Given the description of an element on the screen output the (x, y) to click on. 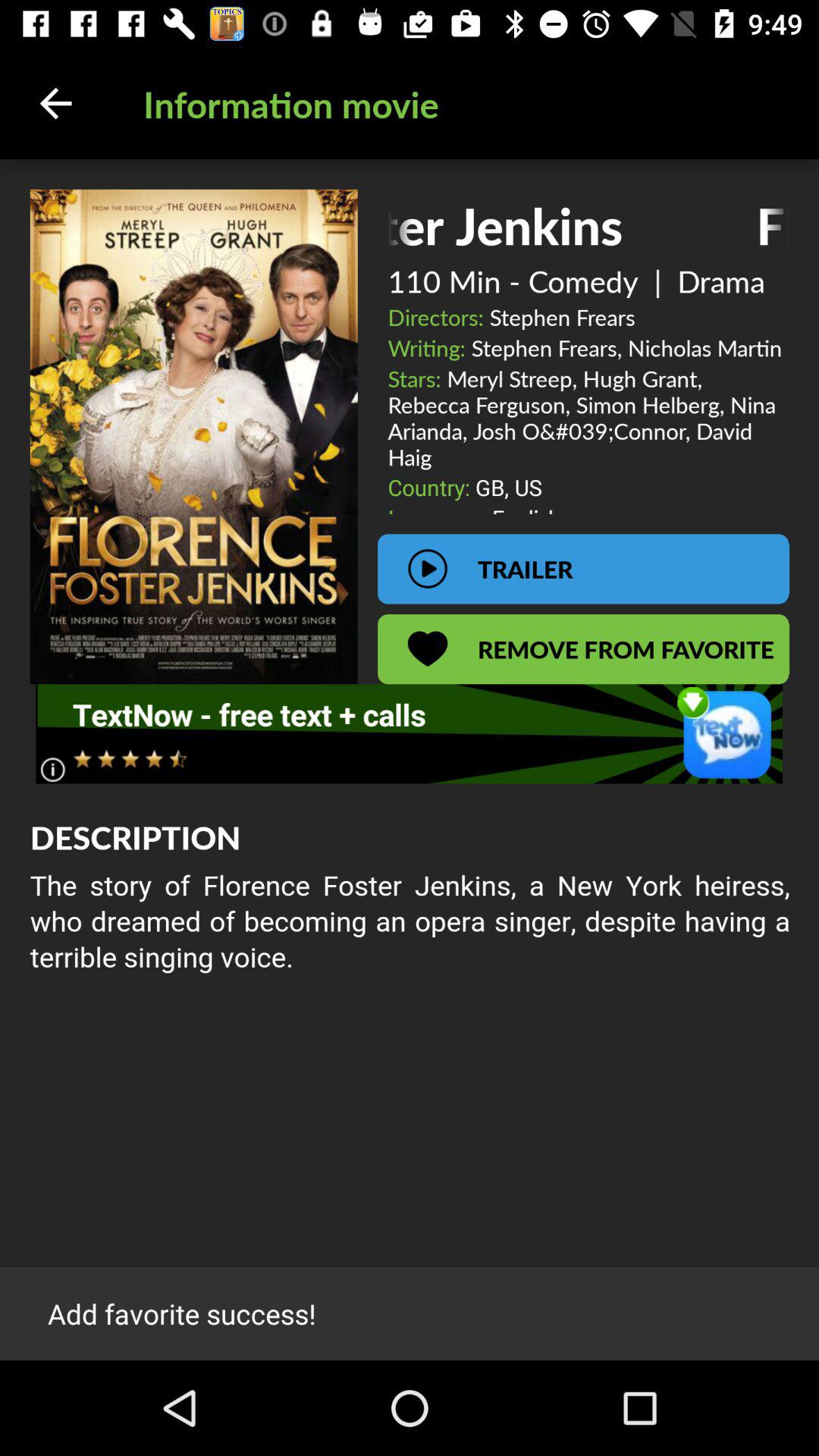
go to the advertised website (408, 733)
